Given the description of an element on the screen output the (x, y) to click on. 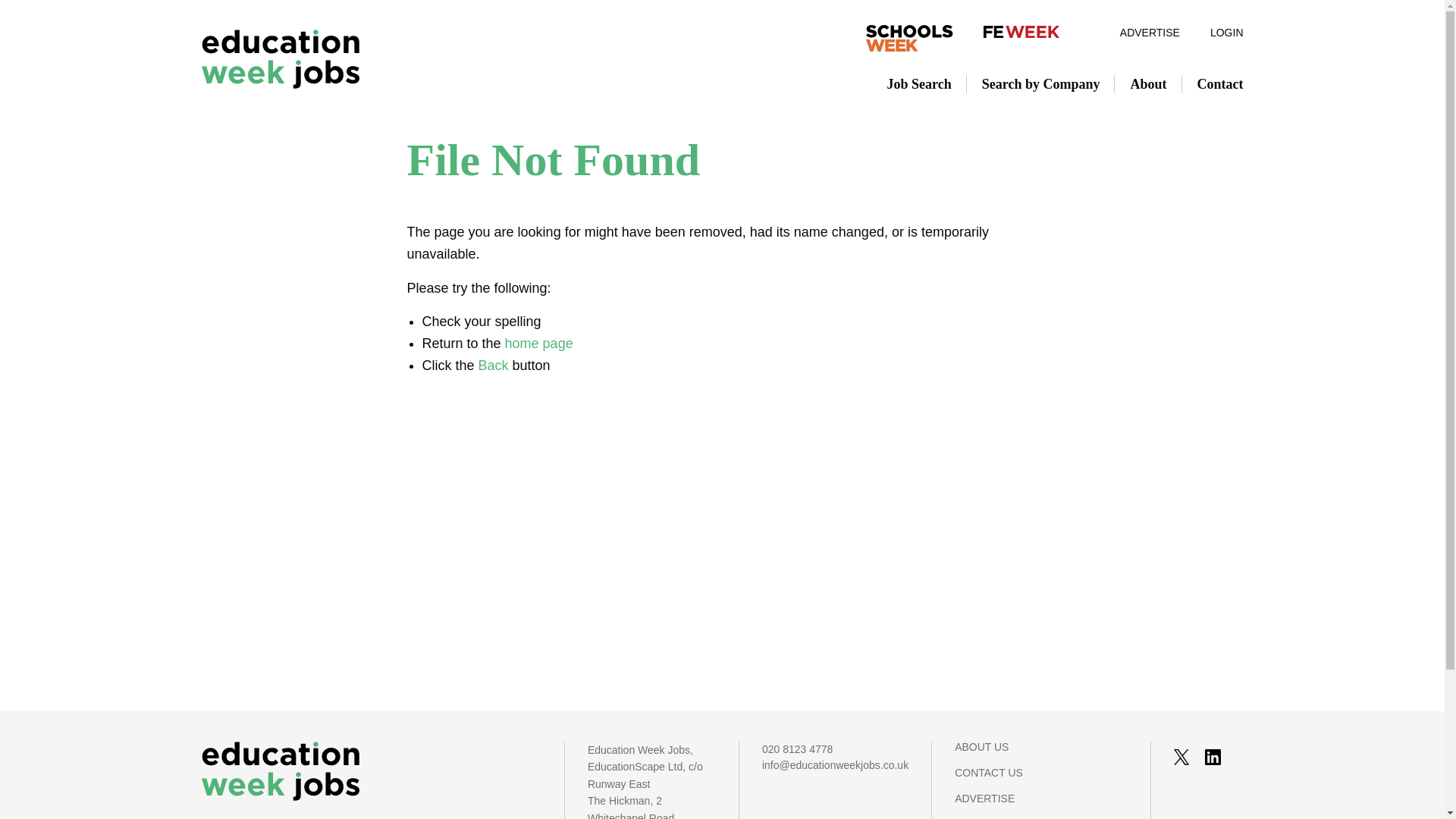
ADVERTISE (1040, 806)
020 8123 4778 (834, 749)
Back (493, 365)
Job Search (919, 84)
ABOUT US (1040, 754)
CONTACT US (1040, 780)
ADVERTISE (1150, 32)
LOGIN (1219, 32)
Search by Company (1040, 84)
About (1147, 84)
home page (539, 343)
Contact (1211, 84)
